Given the description of an element on the screen output the (x, y) to click on. 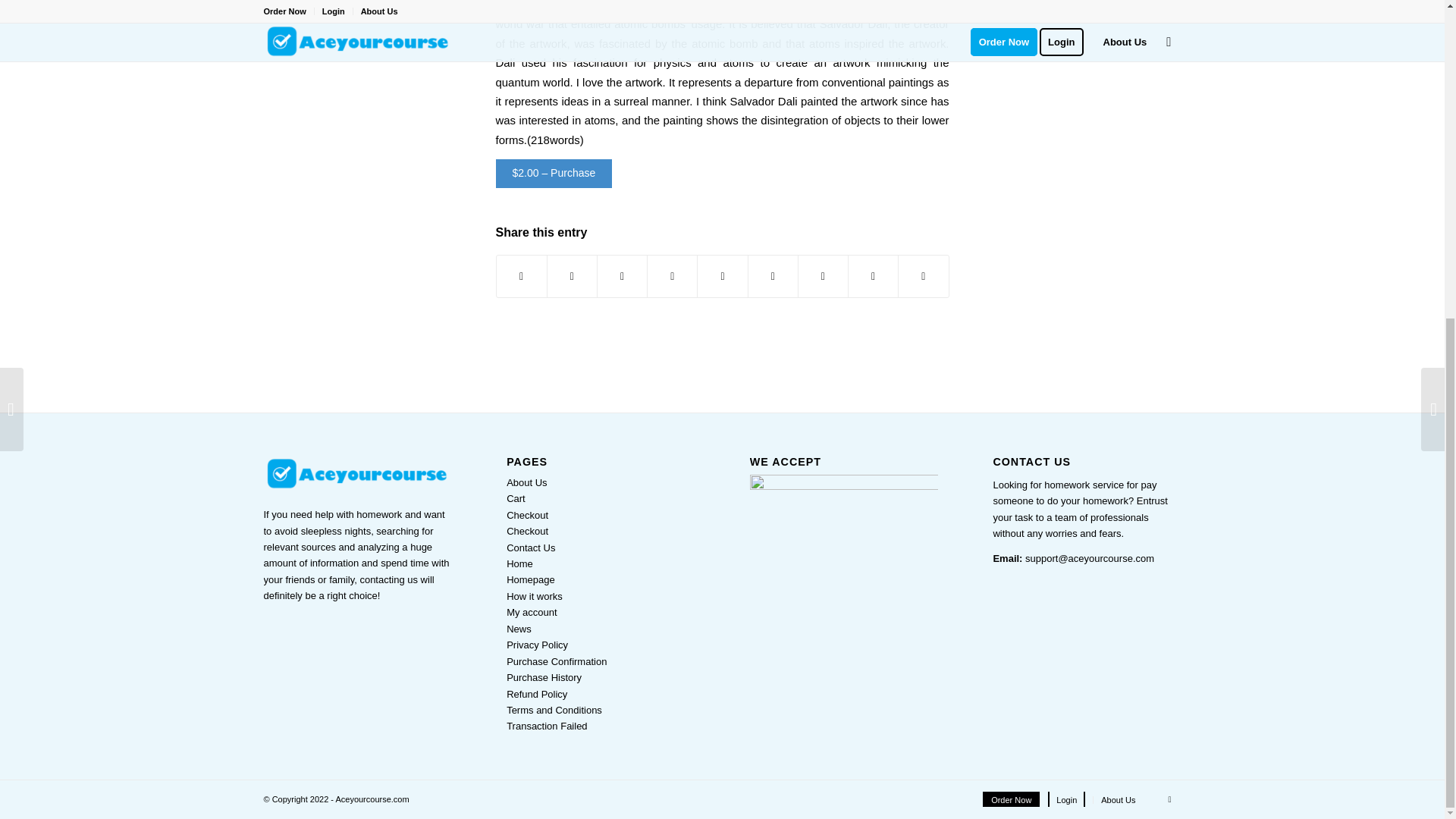
Home (519, 563)
Checkout (527, 514)
Contact Us (530, 547)
Facebook (1169, 798)
Cart (515, 498)
About Us (526, 482)
Checkout (527, 531)
